Given the description of an element on the screen output the (x, y) to click on. 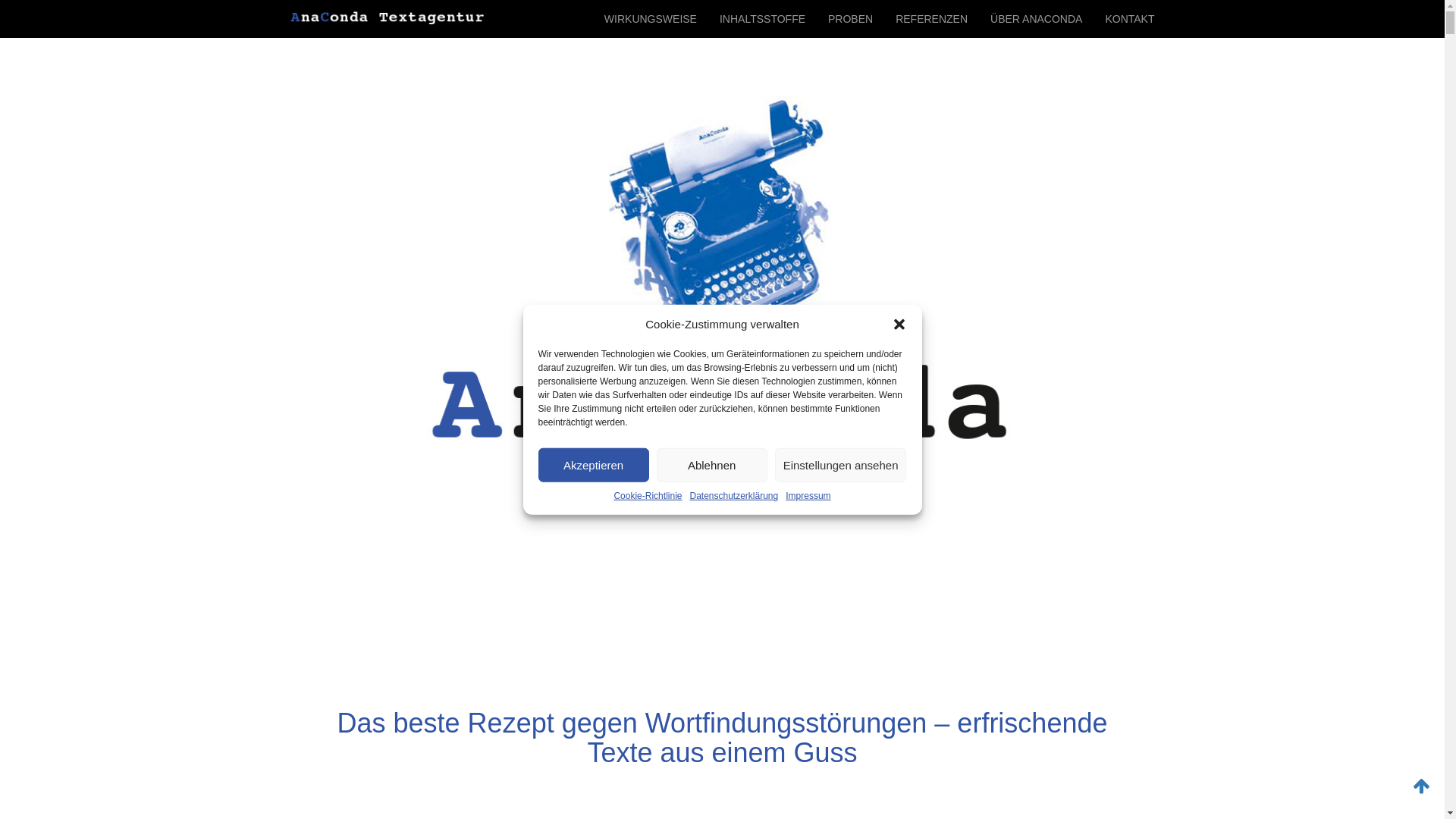
PROBEN Element type: text (850, 18)
KONTAKT Element type: text (1129, 18)
Impressum Element type: text (807, 495)
INHALTSSTOFFE Element type: text (762, 18)
REFERENZEN Element type: text (931, 18)
Akzeptieren Element type: text (593, 465)
Einstellungen ansehen Element type: text (840, 465)
Ablehnen Element type: text (711, 465)
Ihre erfahrene Texterin aus Basel Element type: hover (387, 18)
Cookie-Richtlinie Element type: text (647, 495)
WIRKUNGSWEISE Element type: text (650, 18)
